Given the description of an element on the screen output the (x, y) to click on. 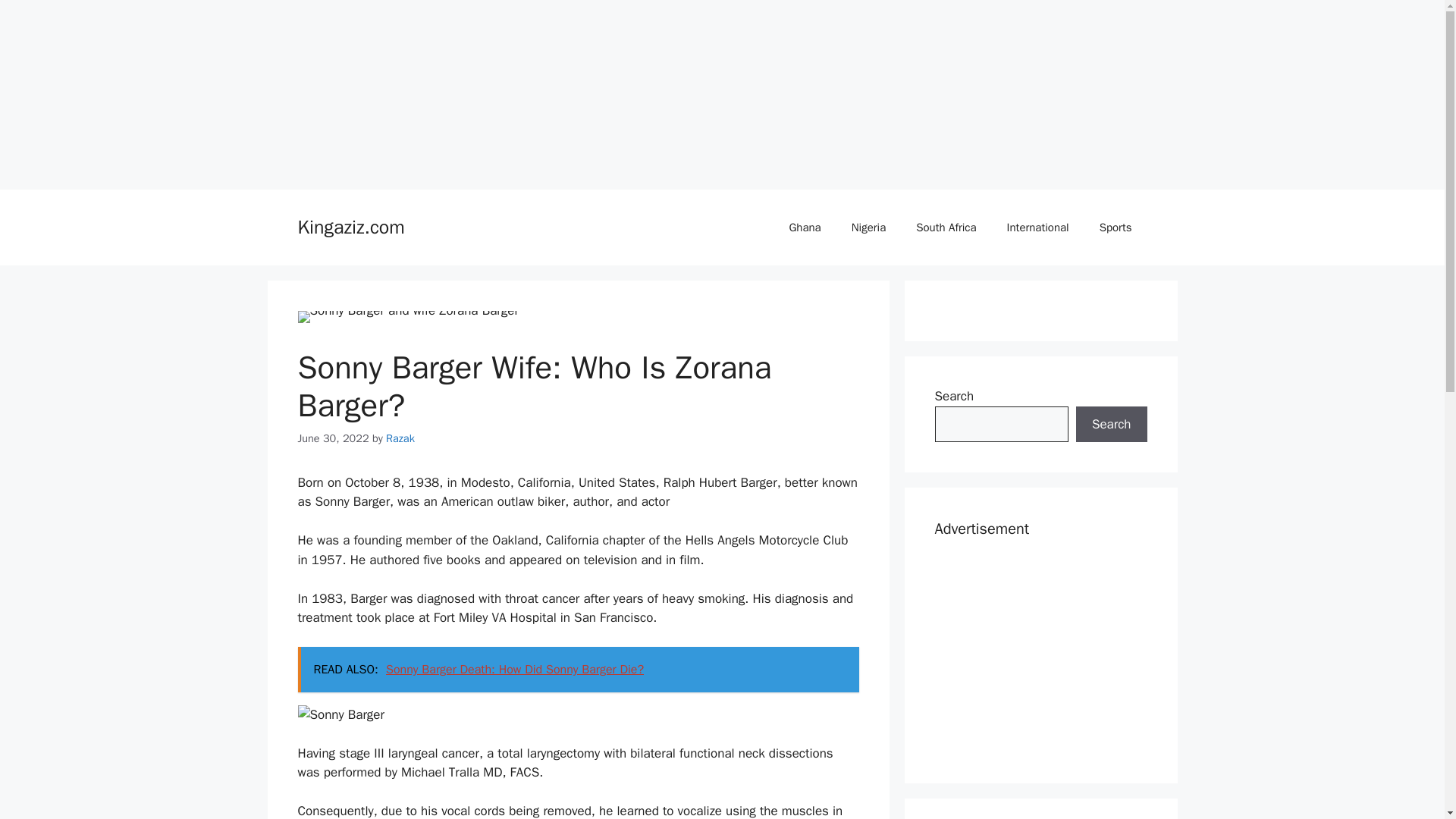
Search (1111, 424)
Kingaziz.com (350, 227)
READ ALSO:  Sonny Barger Death: How Did Sonny Barger Die? (578, 669)
Ghana (804, 227)
International (1037, 227)
Razak (399, 438)
Sports (1115, 227)
View all posts by Razak (399, 438)
Nigeria (868, 227)
South Africa (946, 227)
